Given the description of an element on the screen output the (x, y) to click on. 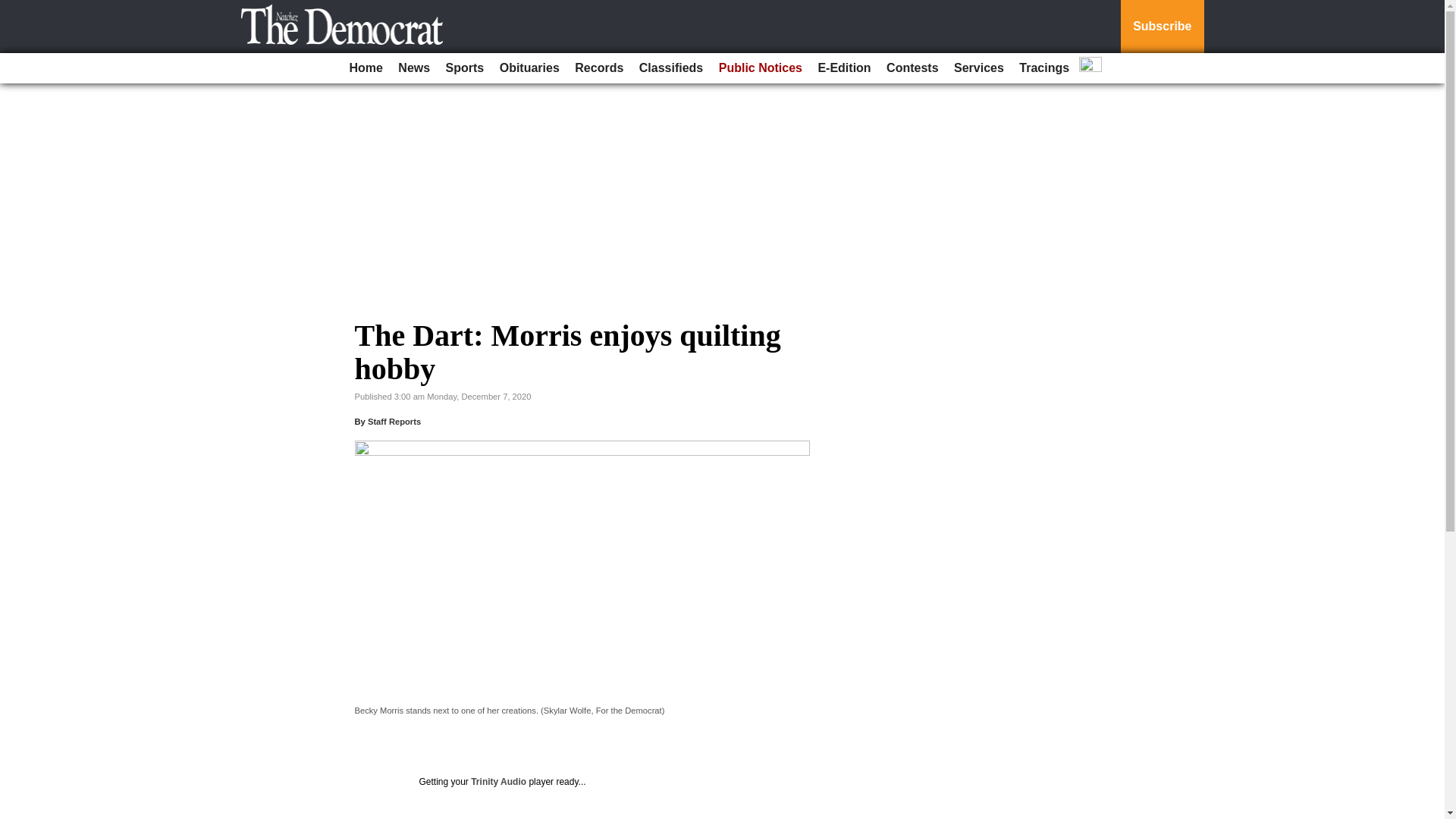
News (413, 68)
Sports (464, 68)
E-Edition (843, 68)
Tracings (1044, 68)
Staff Reports (394, 420)
Home (365, 68)
Records (598, 68)
Public Notices (760, 68)
Contests (911, 68)
Subscribe (1162, 26)
